Given the description of an element on the screen output the (x, y) to click on. 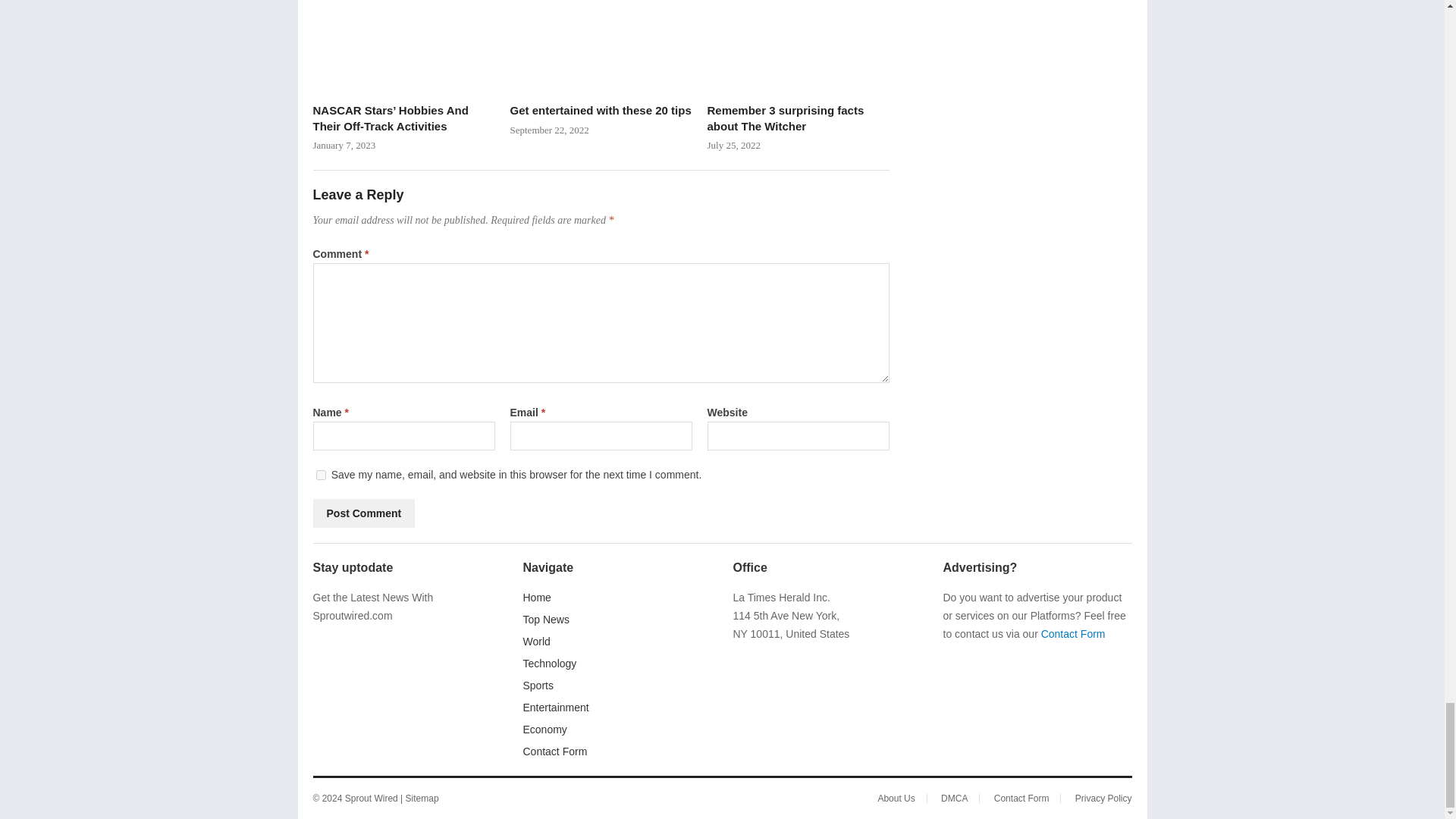
Get entertained with these 20 tips (600, 47)
Remember 3 surprising facts about The Witcher (797, 47)
Post Comment (363, 512)
yes (319, 474)
